Given the description of an element on the screen output the (x, y) to click on. 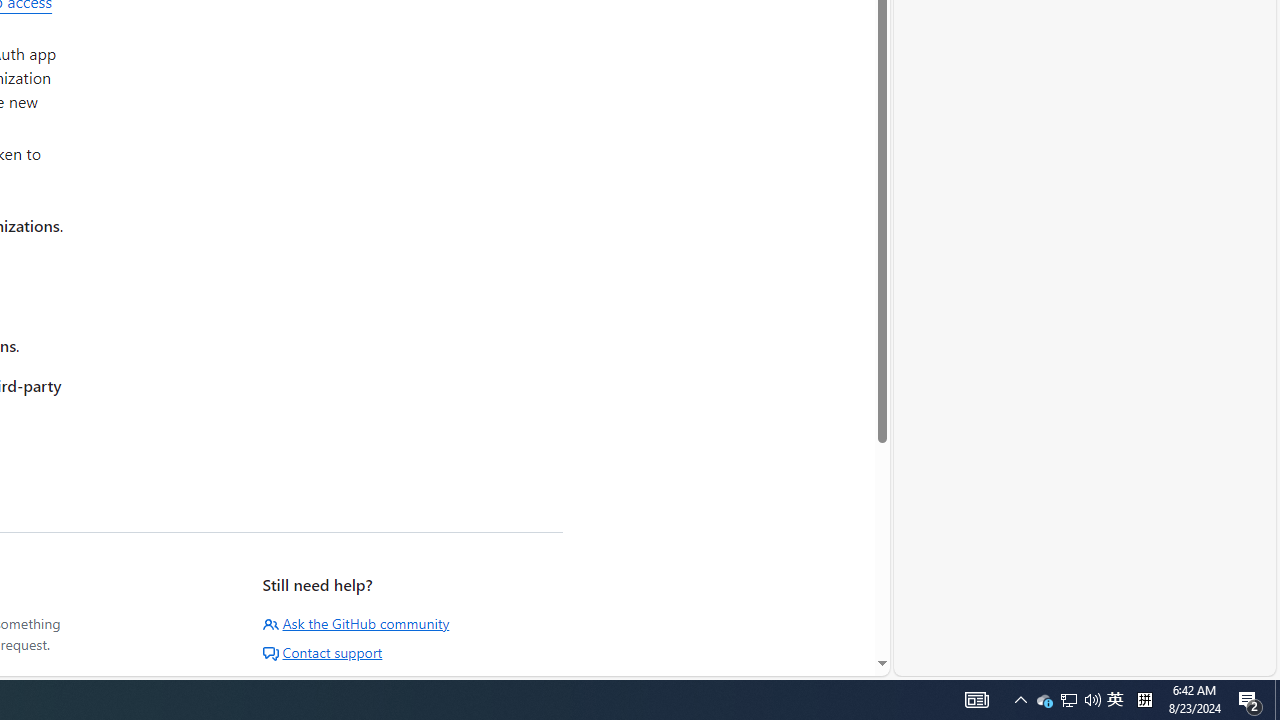
Scroll to top (831, 632)
Contact support (322, 651)
Ask the GitHub community (356, 623)
Scroll to top (831, 632)
